Given the description of an element on the screen output the (x, y) to click on. 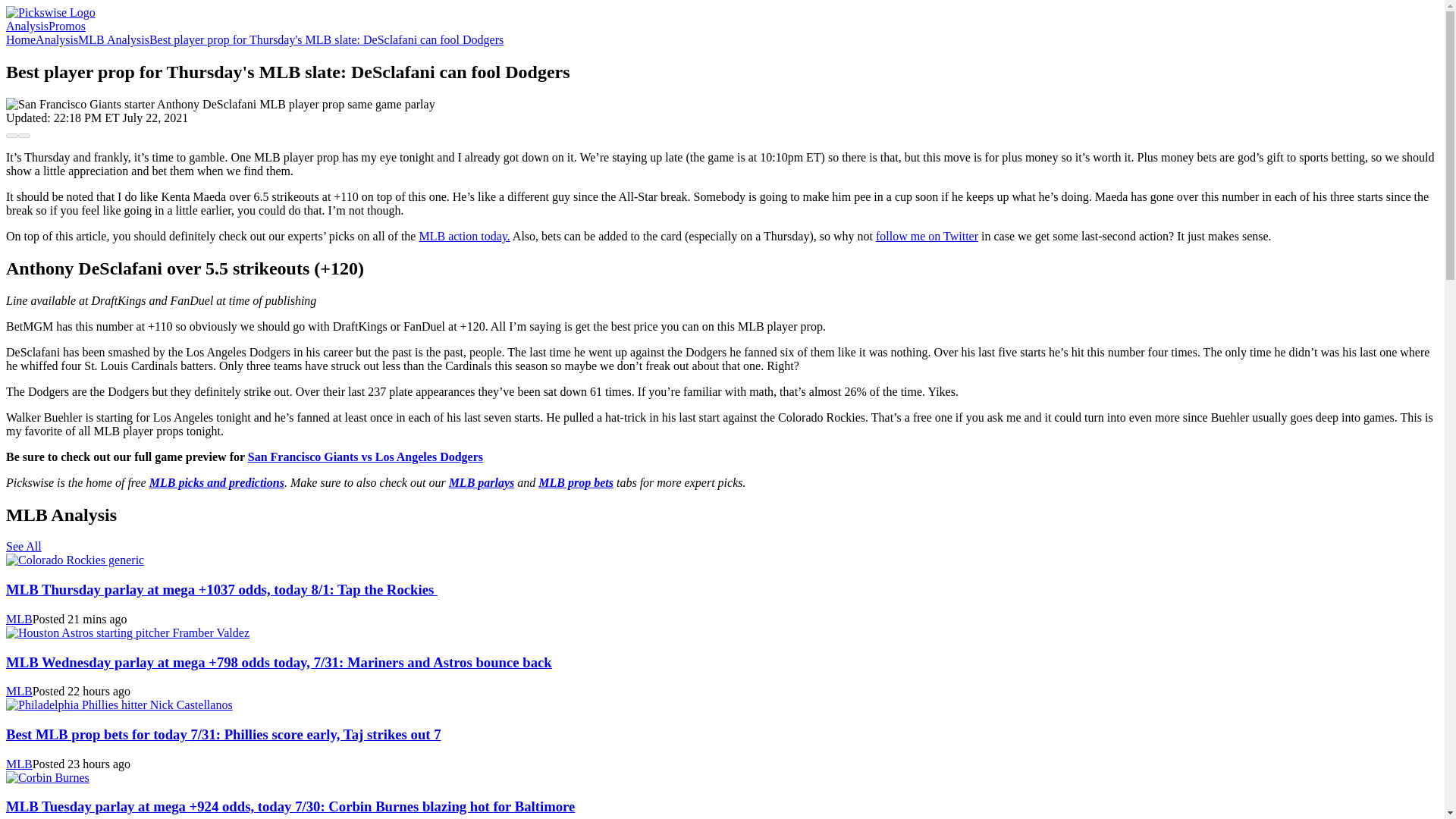
MLB Analysis (113, 39)
MLB action today. (464, 236)
MLB prop bets (575, 481)
Analysis (56, 39)
MLB (18, 618)
MLB (18, 690)
MLB (18, 763)
MLB picks and predictions (216, 481)
See All (23, 545)
follow me on Twitter (927, 236)
San Francisco Giants vs Los Angeles Dodgers (365, 456)
Home (19, 39)
Analysis (26, 25)
Promos (66, 25)
